Given the description of an element on the screen output the (x, y) to click on. 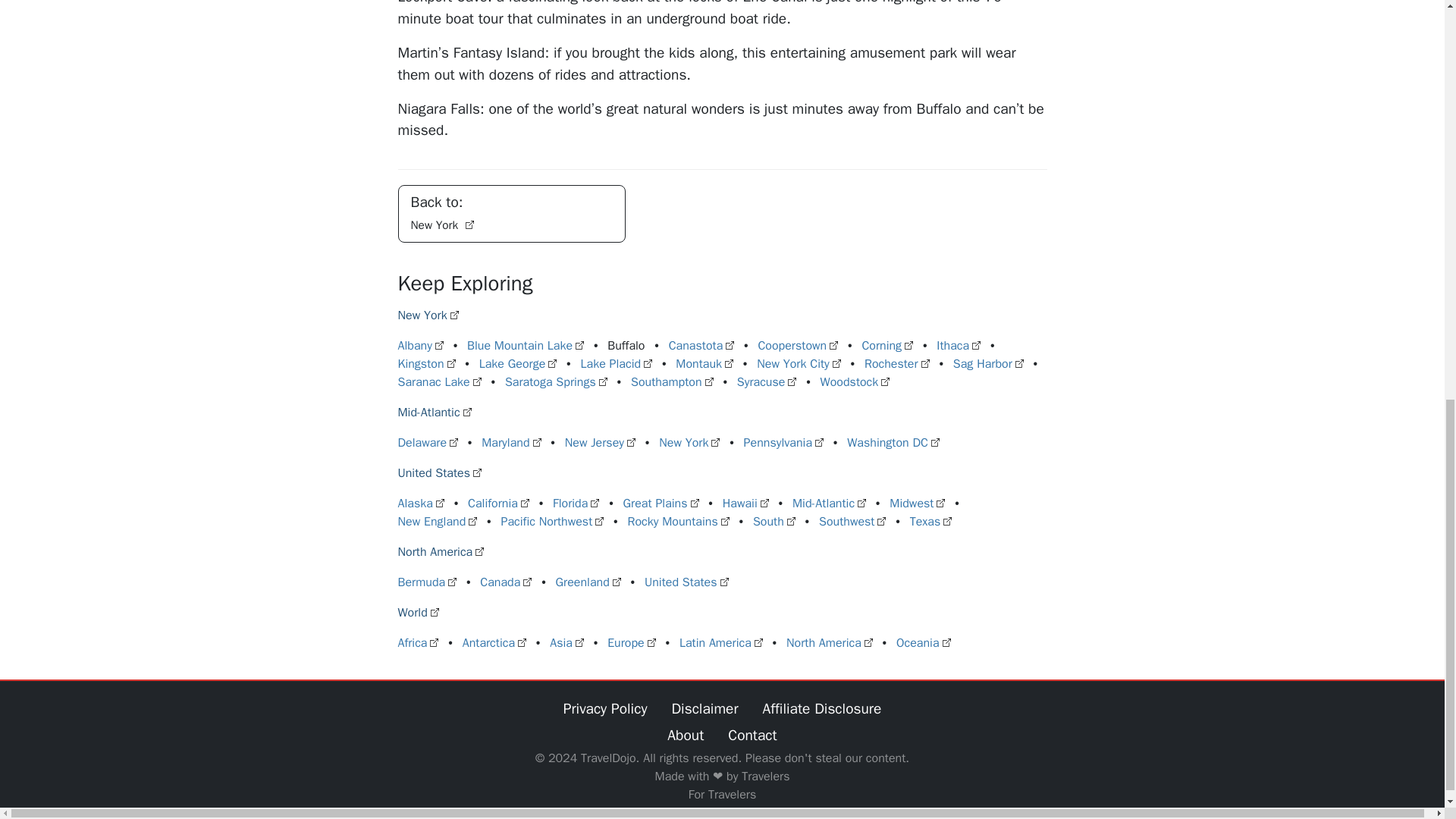
California (498, 503)
Sag Harbor (988, 363)
New York (689, 442)
Corning (886, 345)
Southampton (671, 381)
Lake George (518, 363)
Montauk (704, 363)
Maryland (510, 442)
New York (510, 213)
